Given the description of an element on the screen output the (x, y) to click on. 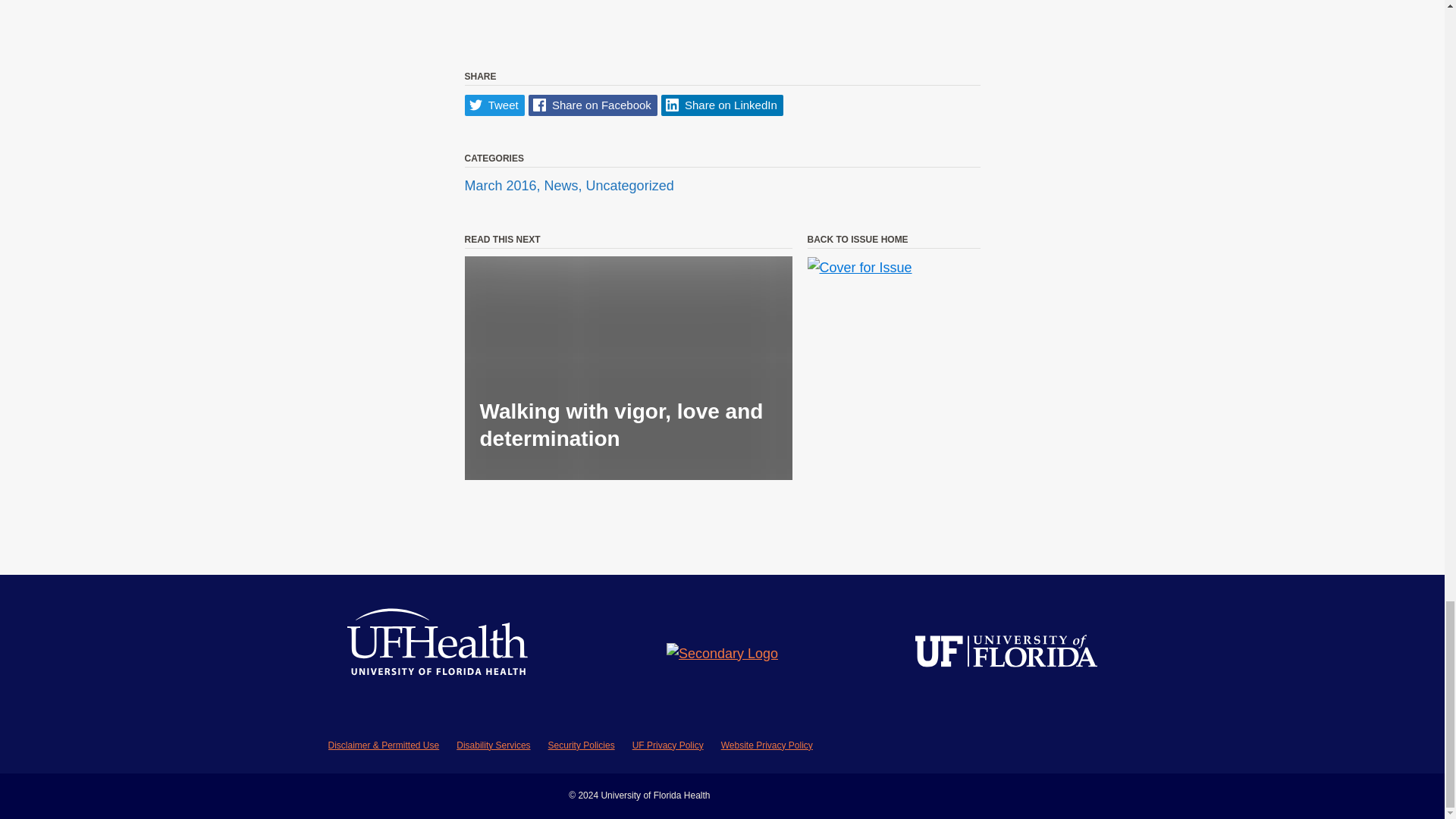
Tweet (494, 106)
Security Policies (581, 745)
University of Florida Logo (1005, 653)
University of Florida (1005, 653)
Publication Logo (721, 653)
UF Privacy Policy (667, 745)
Uncategorized (630, 185)
Share on LinkedIn (722, 106)
UF Health Logo (437, 653)
News, (565, 185)
Disability Services (493, 745)
Website Privacy Policy (766, 745)
Share on Facebook (593, 106)
Walking with vigor, love and determination (628, 367)
UF Health (437, 653)
